Given the description of an element on the screen output the (x, y) to click on. 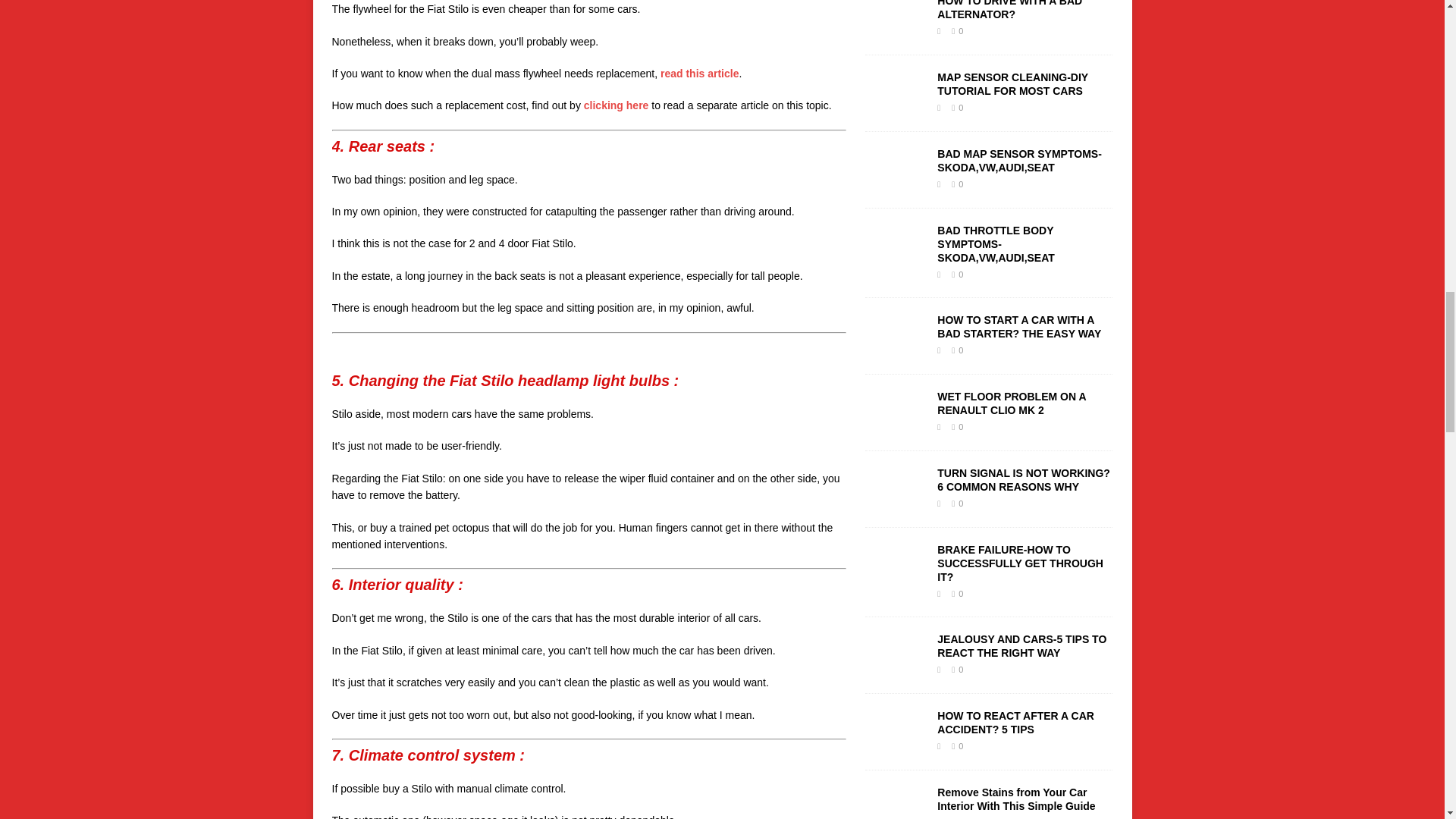
clicking here (616, 105)
read this article (700, 73)
